Given the description of an element on the screen output the (x, y) to click on. 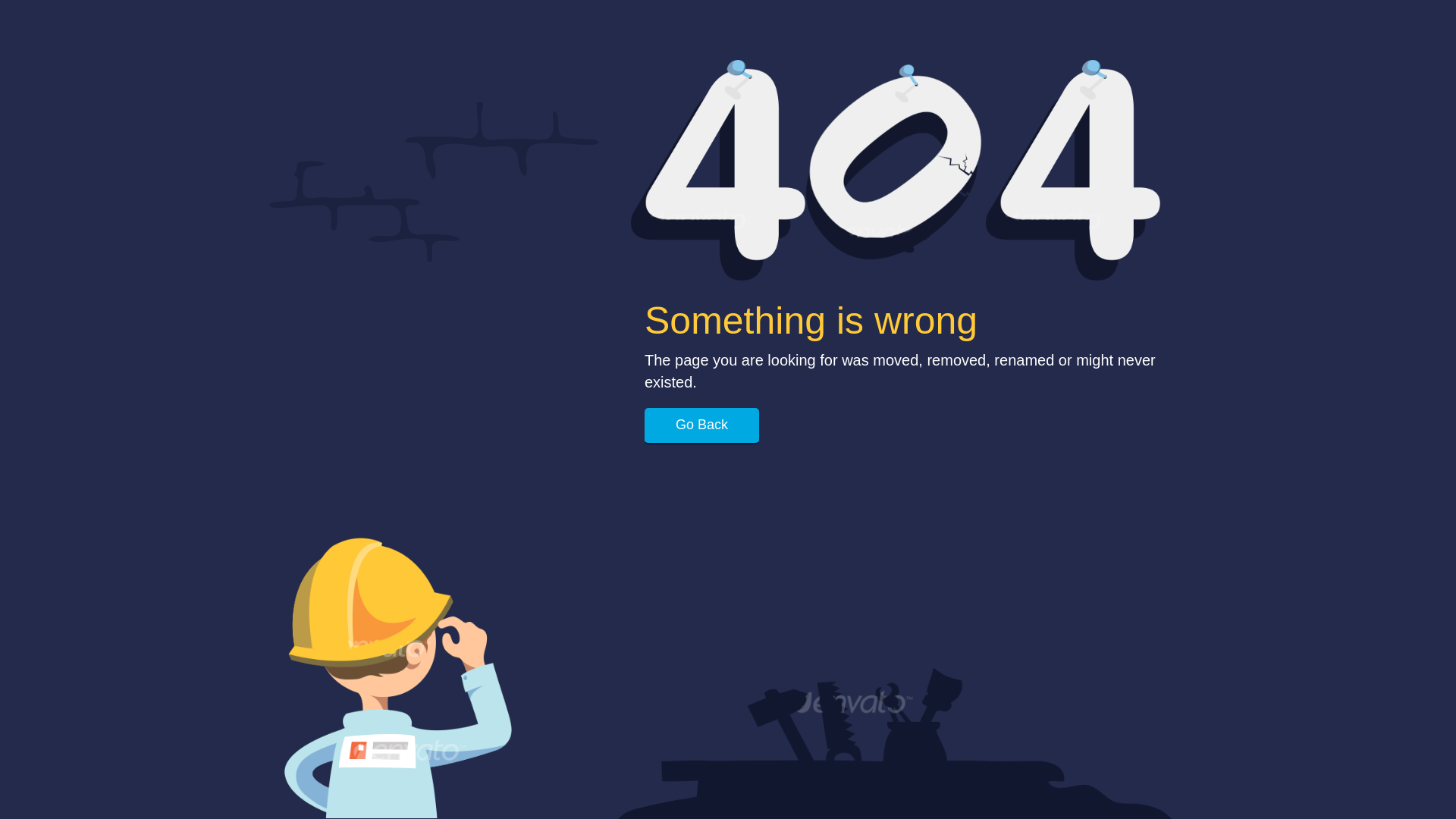
Go Back Element type: text (701, 425)
